Given the description of an element on the screen output the (x, y) to click on. 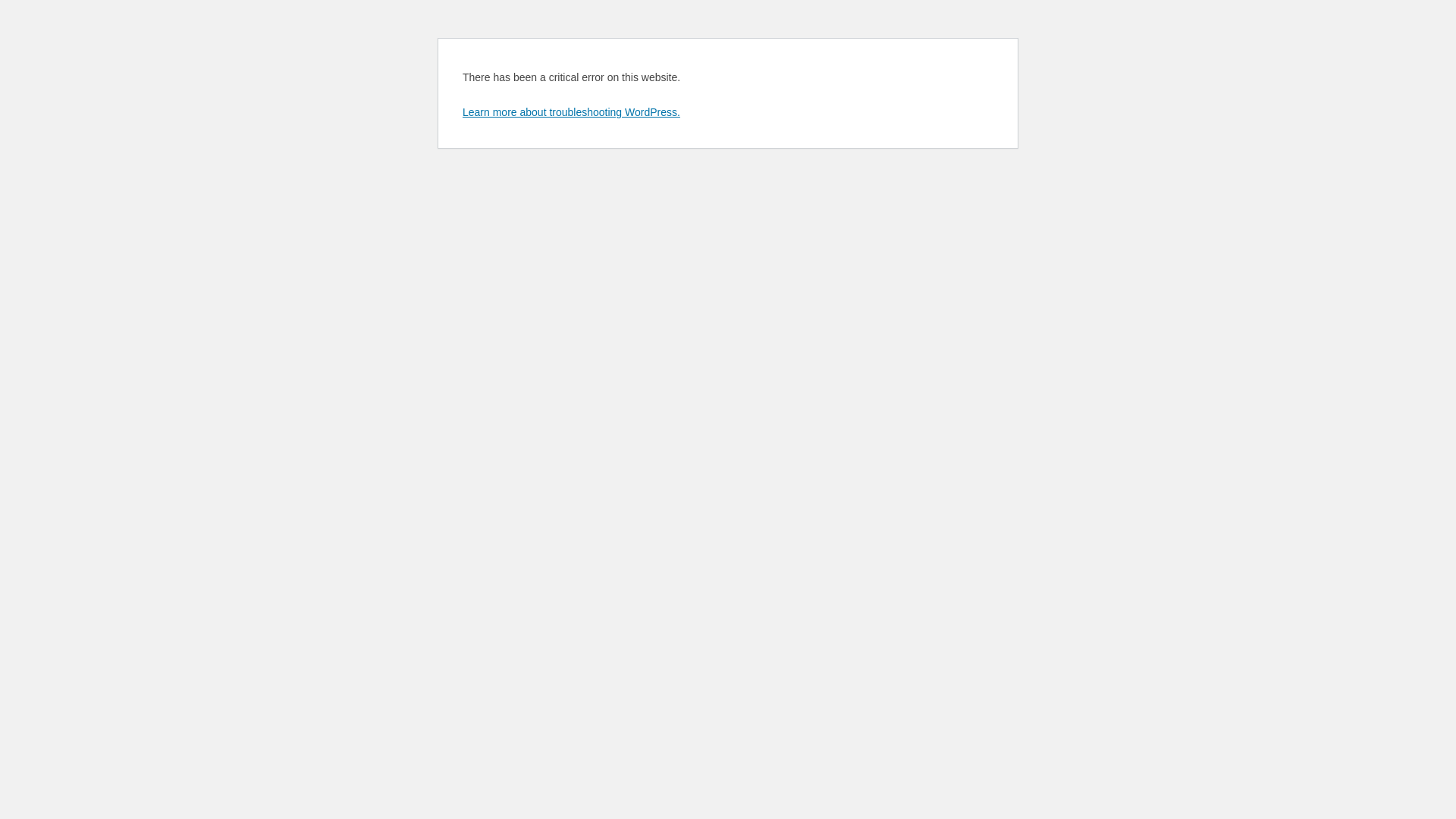
Learn more about troubleshooting WordPress. Element type: text (571, 112)
